Given the description of an element on the screen output the (x, y) to click on. 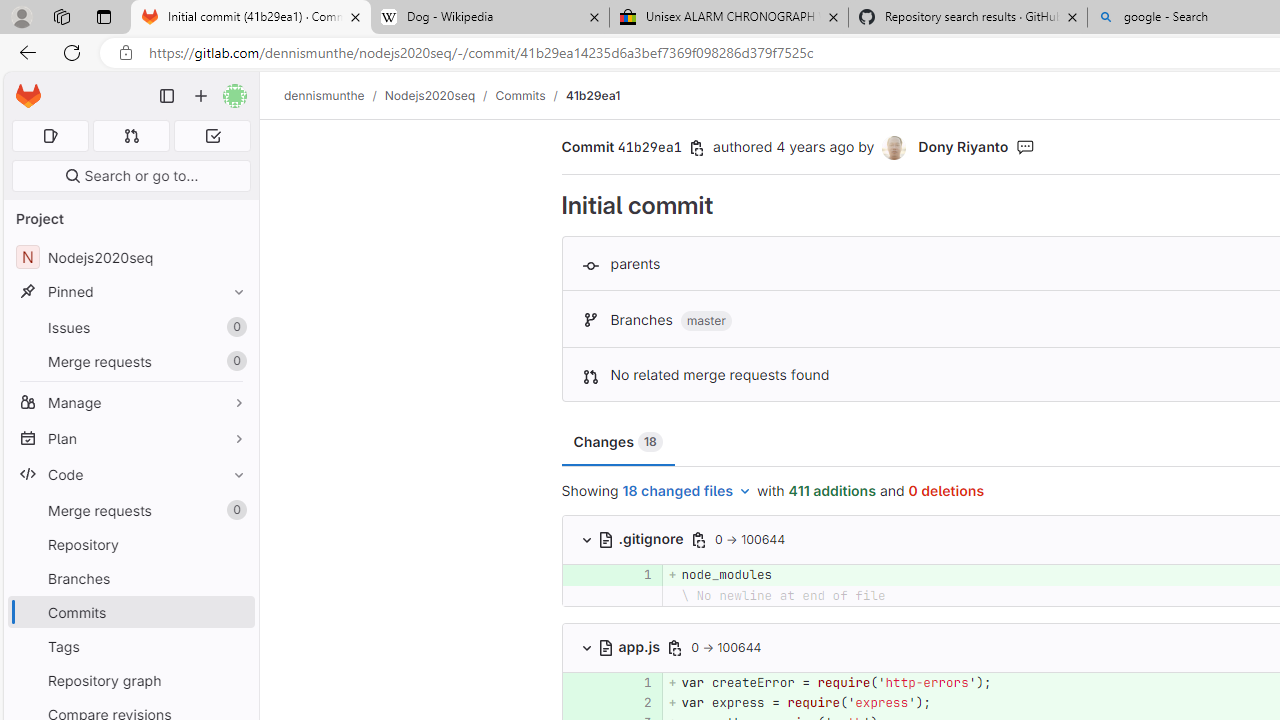
1 (637, 681)
Nodejs2020seq/ (440, 95)
Add a comment to this line  (587, 701)
Merge requests0 (130, 510)
To-Do list 0 (212, 136)
Repository (130, 543)
Commits/ (530, 95)
Refresh (72, 52)
Manage (130, 402)
Tags (130, 646)
master (705, 321)
Copy file path (675, 647)
Changes 18 (617, 442)
Tags (130, 646)
